Given the description of an element on the screen output the (x, y) to click on. 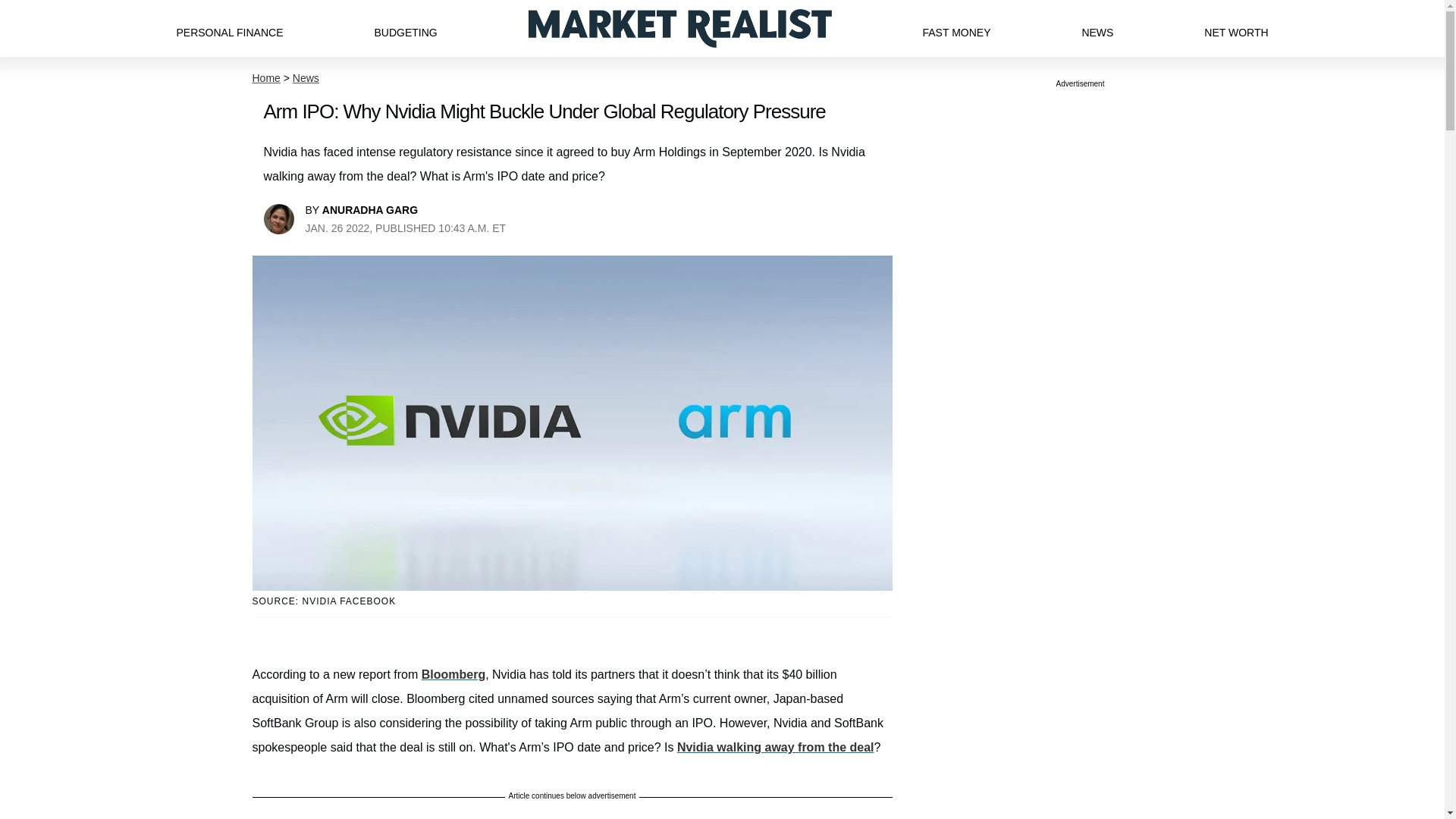
PERSONAL FINANCE (229, 27)
BUDGETING (405, 27)
NET WORTH (1236, 27)
Nvidia walking away from the deal (776, 747)
ANURADHA GARG (369, 209)
Bloomberg (453, 674)
FAST MONEY (955, 27)
Home (265, 78)
News (305, 78)
NEWS (1097, 27)
